Given the description of an element on the screen output the (x, y) to click on. 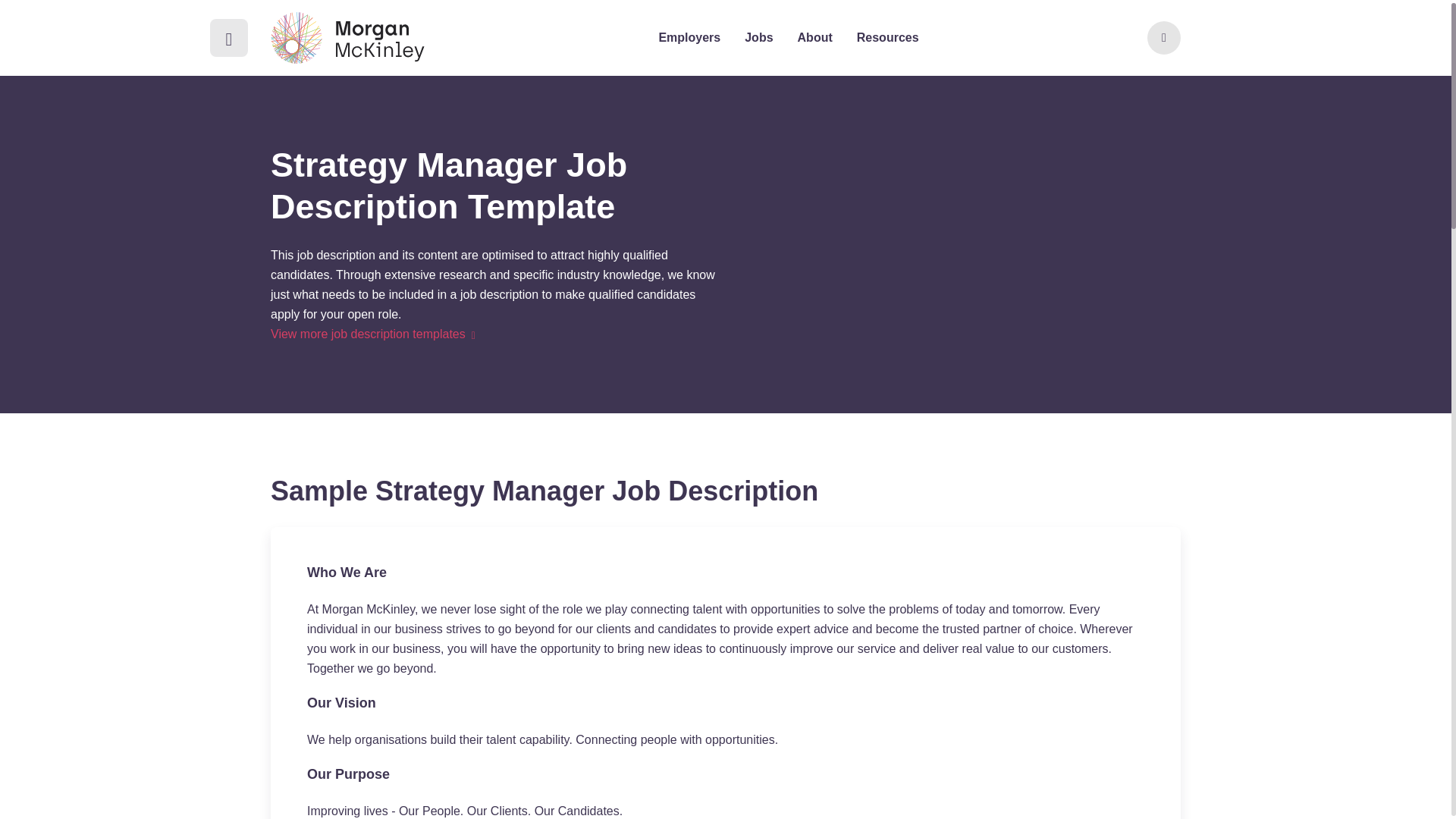
About (814, 37)
Jobs (758, 37)
Employers (689, 37)
Resources (887, 37)
